Given the description of an element on the screen output the (x, y) to click on. 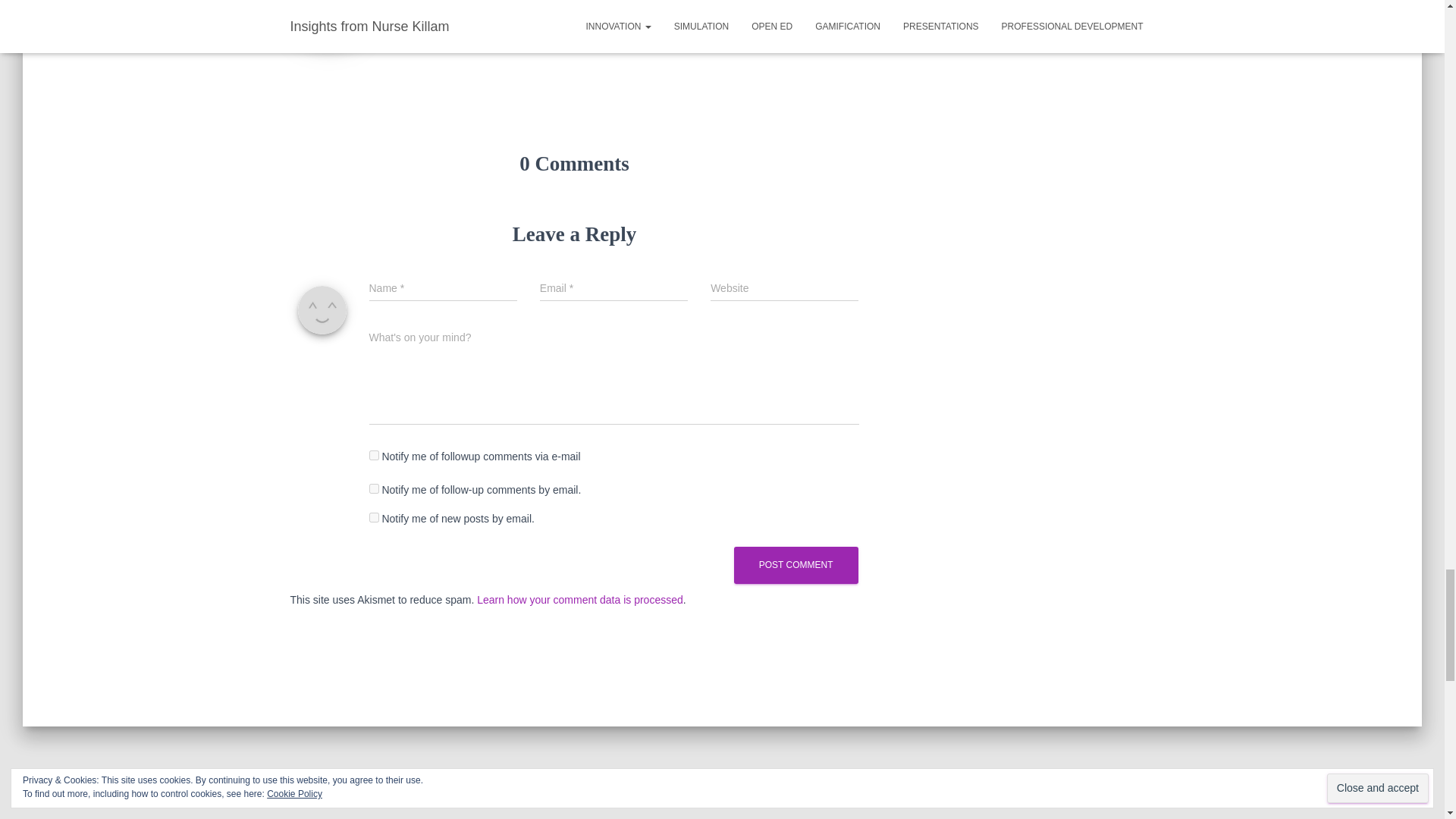
subscribe (373, 488)
subscribe (373, 517)
Post Comment (796, 565)
subscribe (373, 455)
